Given the description of an element on the screen output the (x, y) to click on. 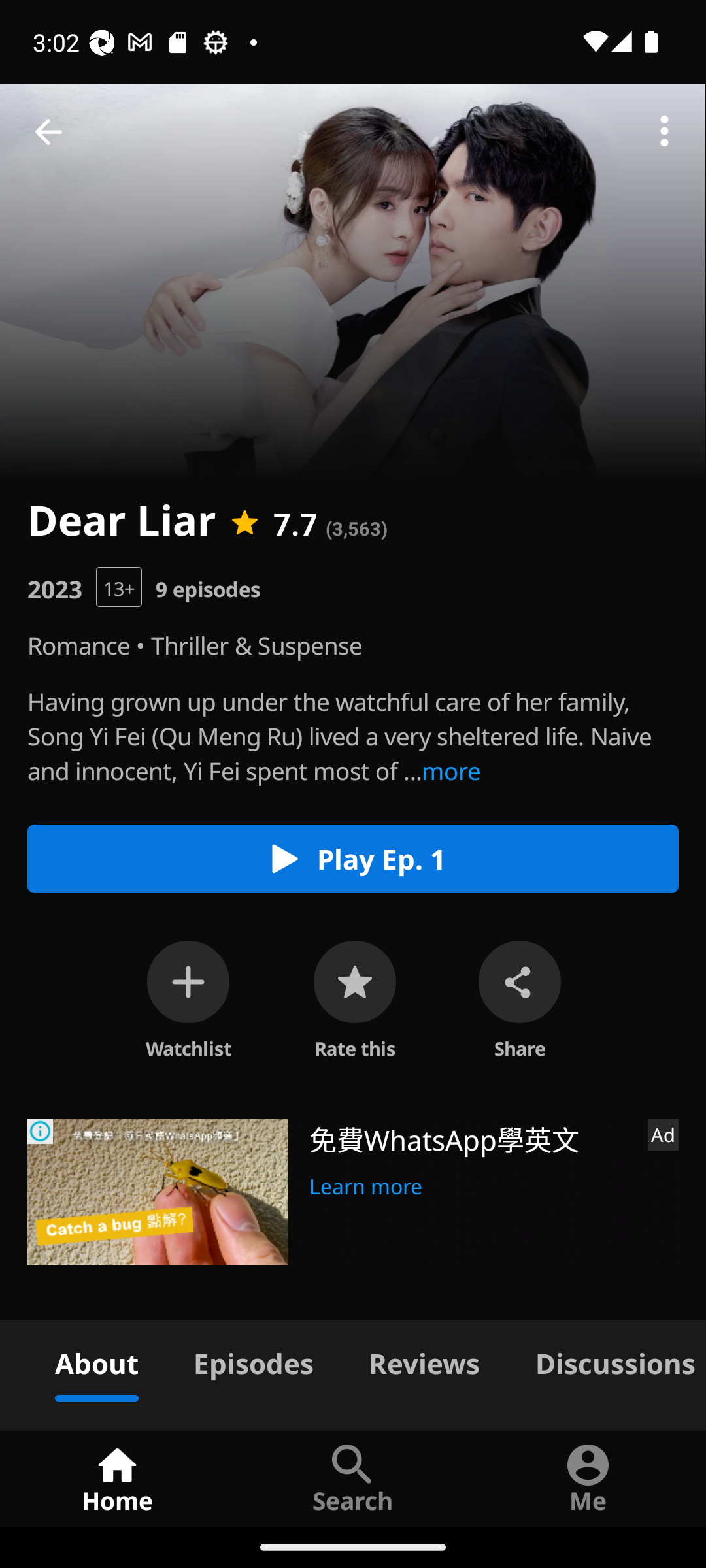
More (664, 131)
off (187, 981)
免費WhatsApp學英文 Ad Learn more Ad Choices Icon (352, 1191)
Ad Choices Icon (39, 1130)
免費WhatsApp學英文 (471, 1137)
Learn more (365, 1183)
Episodes (252, 1360)
Reviews (423, 1360)
Discussions (606, 1360)
Search (352, 1478)
Me (588, 1478)
